Given the description of an element on the screen output the (x, y) to click on. 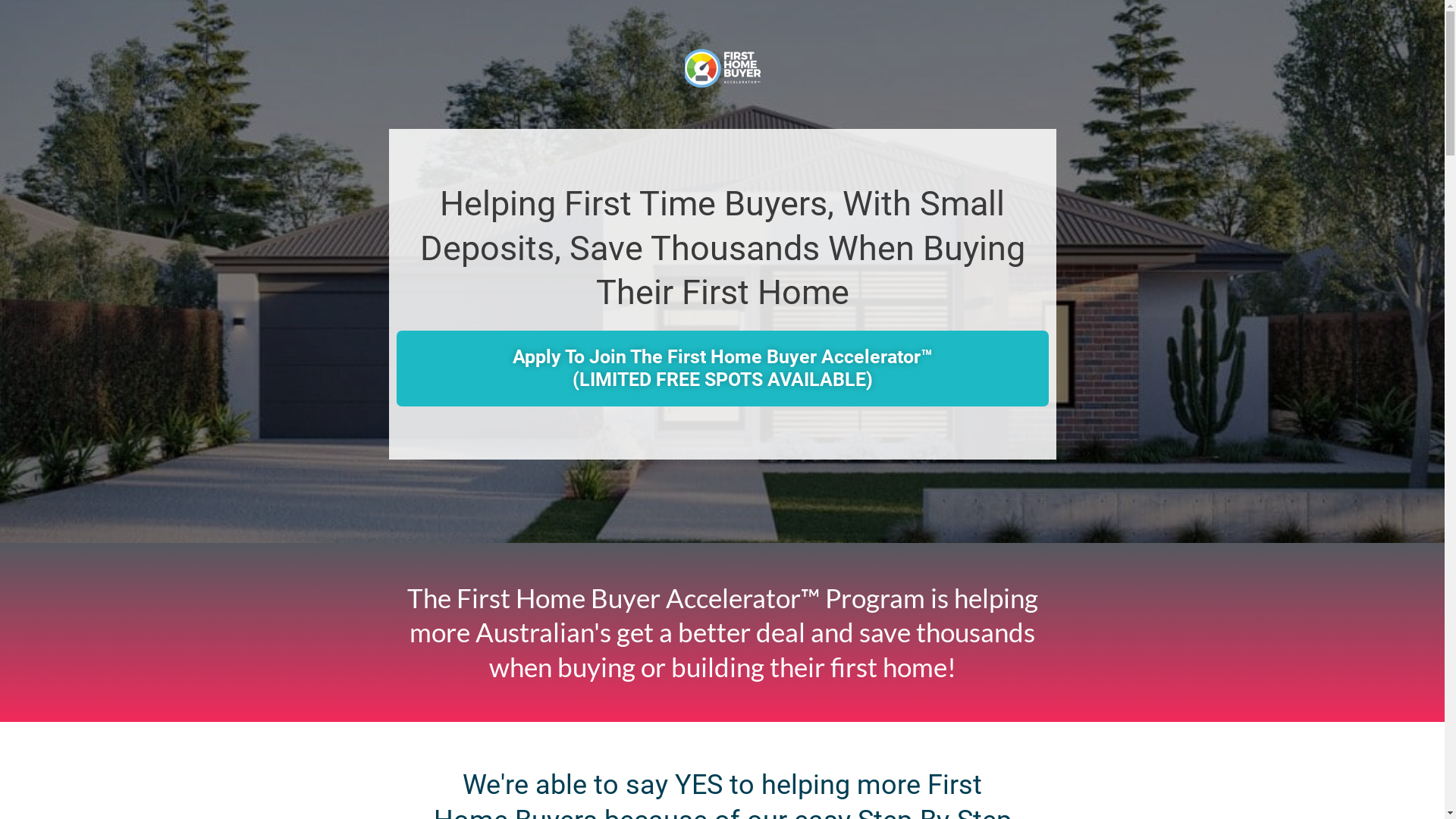
FHBA Element type: hover (721, 68)
